Given the description of an element on the screen output the (x, y) to click on. 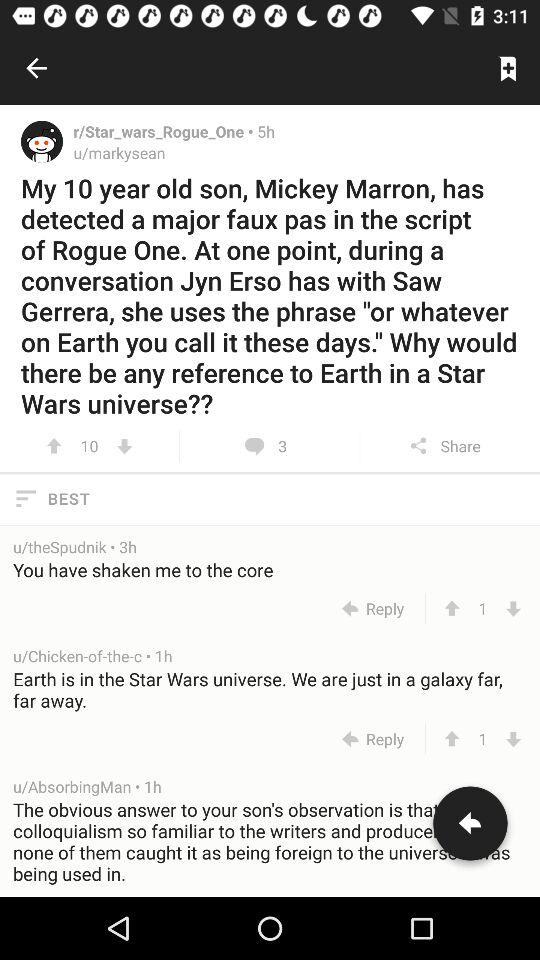
choose best (270, 498)
